Given the description of an element on the screen output the (x, y) to click on. 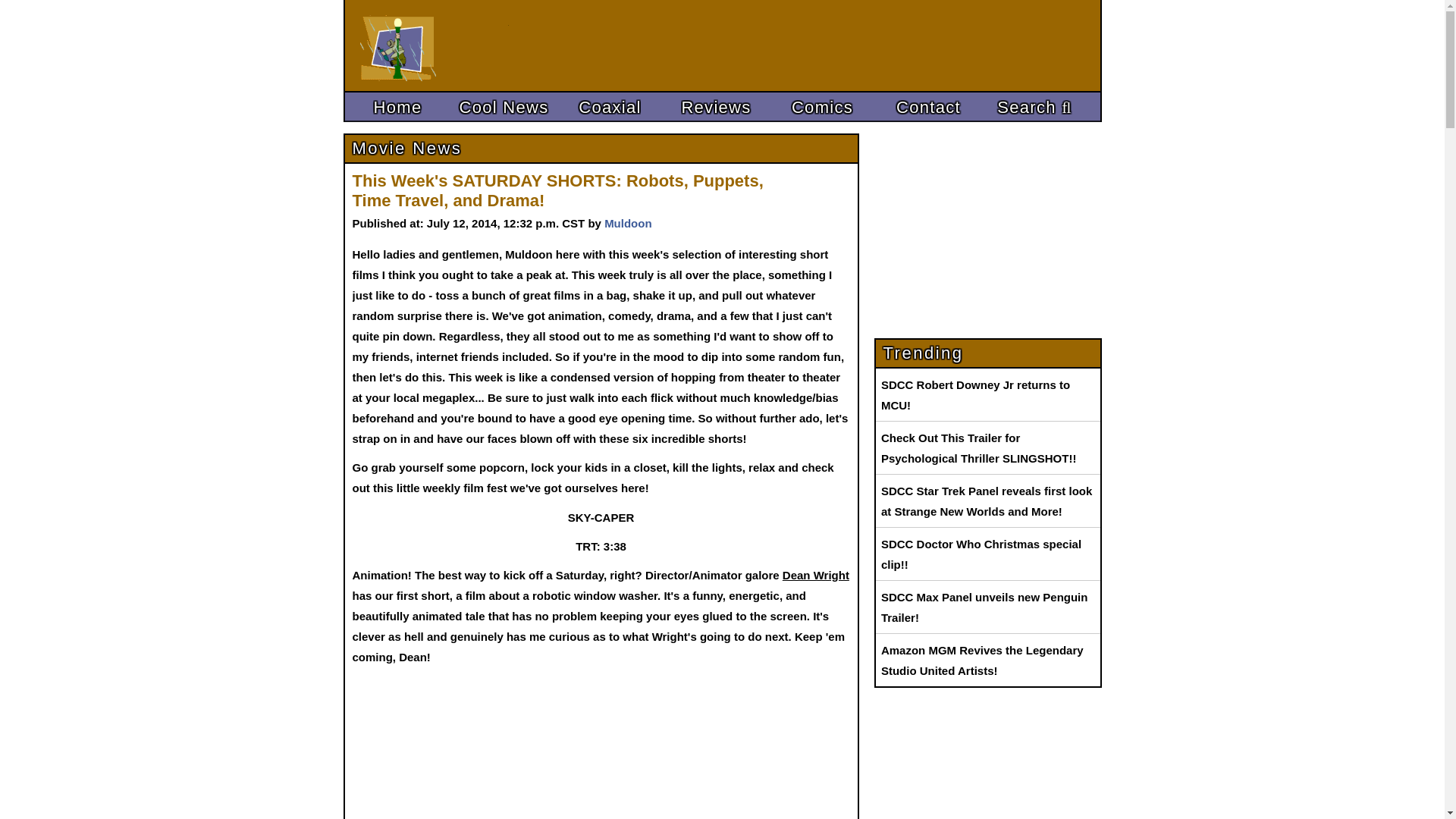
Coaxial (609, 107)
Comics (821, 107)
Cool News (502, 107)
Home (396, 107)
Ain't It Cool News (471, 45)
Dean Wright (815, 574)
Search (1034, 107)
Muldoon (627, 223)
Reviews (715, 107)
Contact (928, 107)
